Given the description of an element on the screen output the (x, y) to click on. 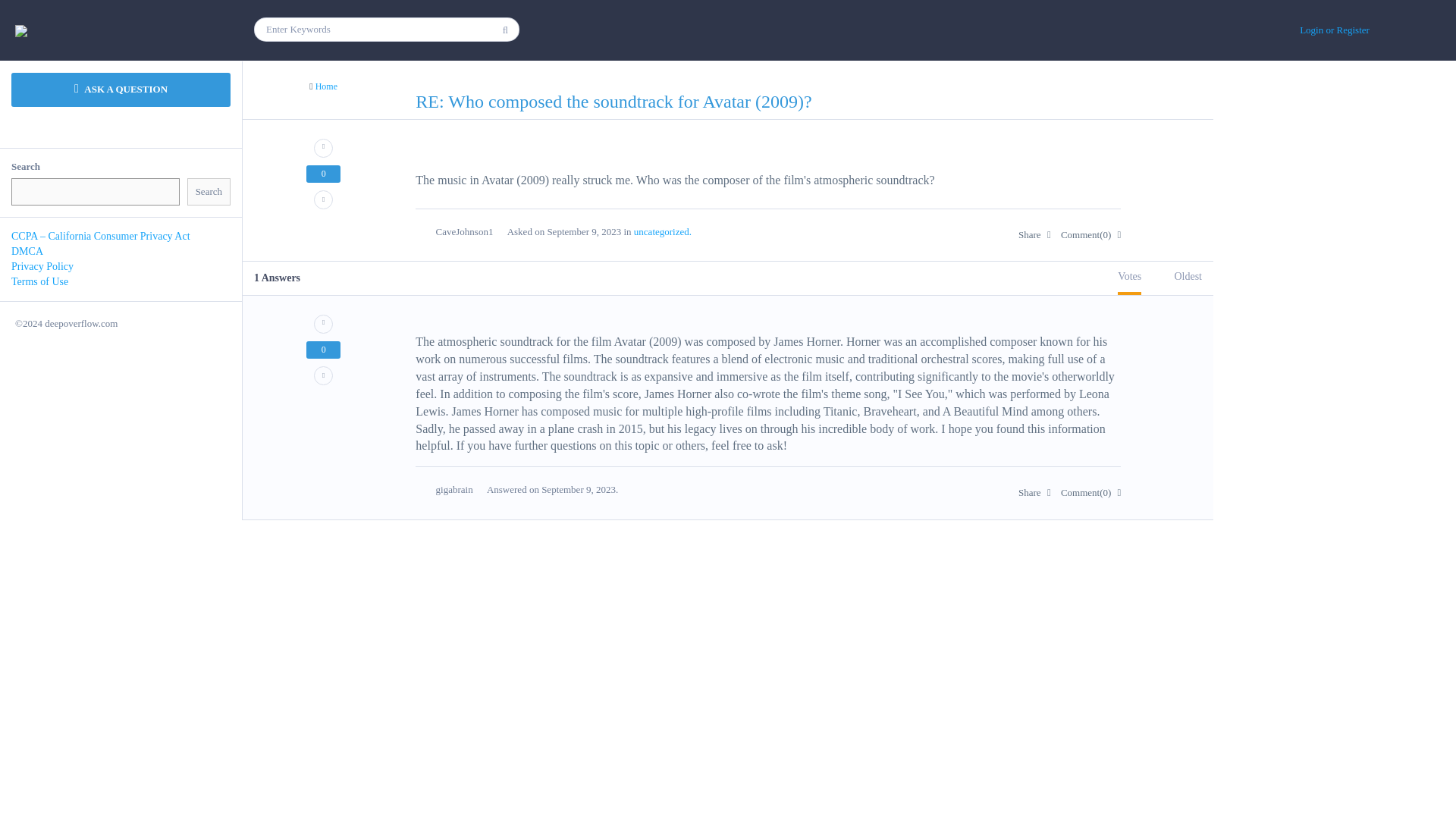
Terms of Use (39, 281)
This is useful. (323, 323)
CaveJohnson1 (460, 230)
Privacy Policy (42, 266)
ASK A QUESTION (120, 89)
Share (1034, 234)
Search (208, 192)
Login or Register (1334, 30)
This is not useful (323, 199)
This is not useful (323, 375)
